Given the description of an element on the screen output the (x, y) to click on. 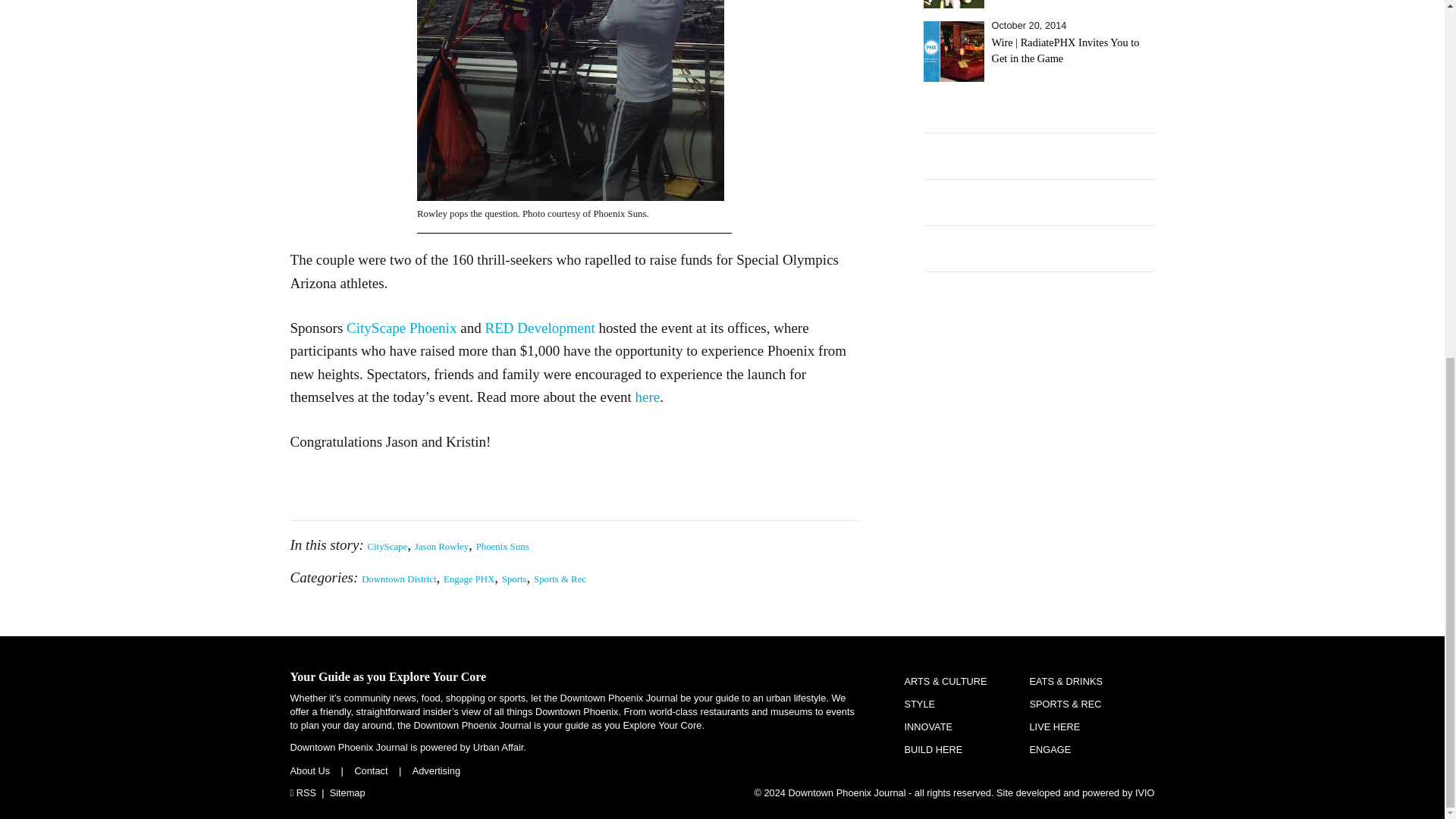
Phoenix Suns (502, 546)
Jason Rowley (441, 546)
Downtown District (398, 579)
Engage PHX (469, 579)
CityScape Phoenix (401, 327)
Suns Rowley web (569, 100)
RED Development (539, 327)
here (647, 396)
CityScape (387, 546)
Sports (514, 579)
